Given the description of an element on the screen output the (x, y) to click on. 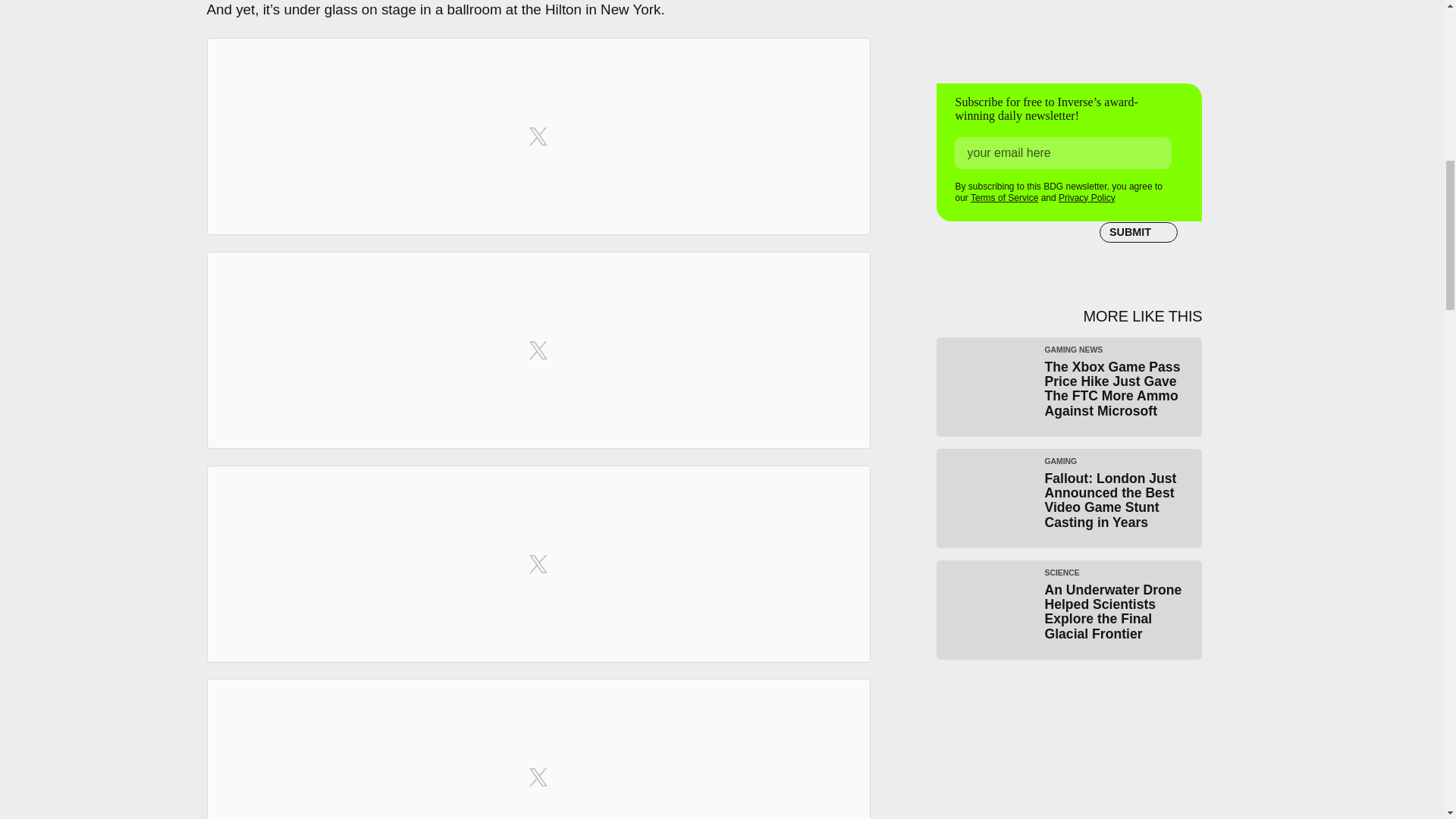
Privacy Policy (1086, 197)
SUBMIT (1138, 232)
Terms of Service (1004, 197)
